Given the description of an element on the screen output the (x, y) to click on. 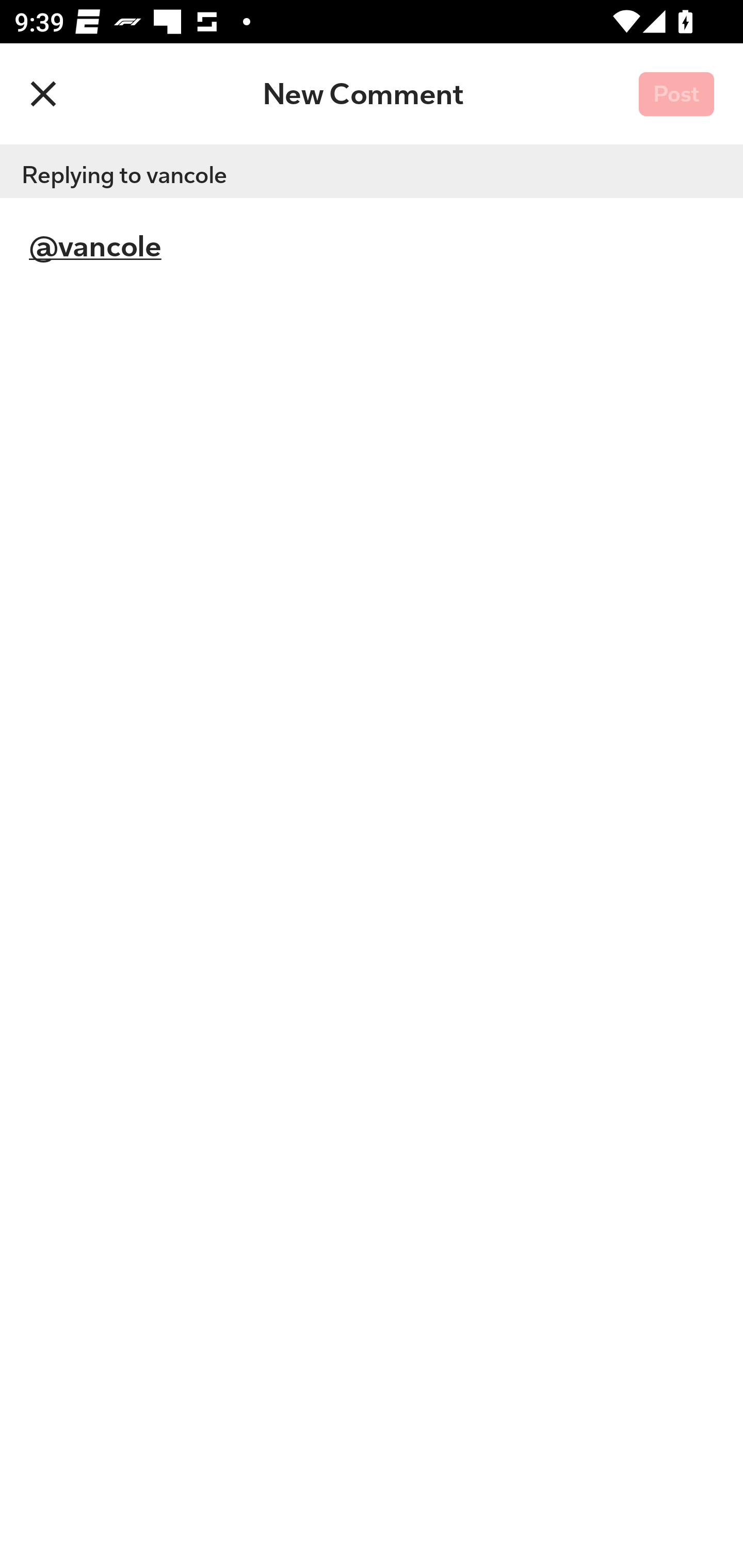
Post (676, 94)
@vancole  (252, 882)
